Given the description of an element on the screen output the (x, y) to click on. 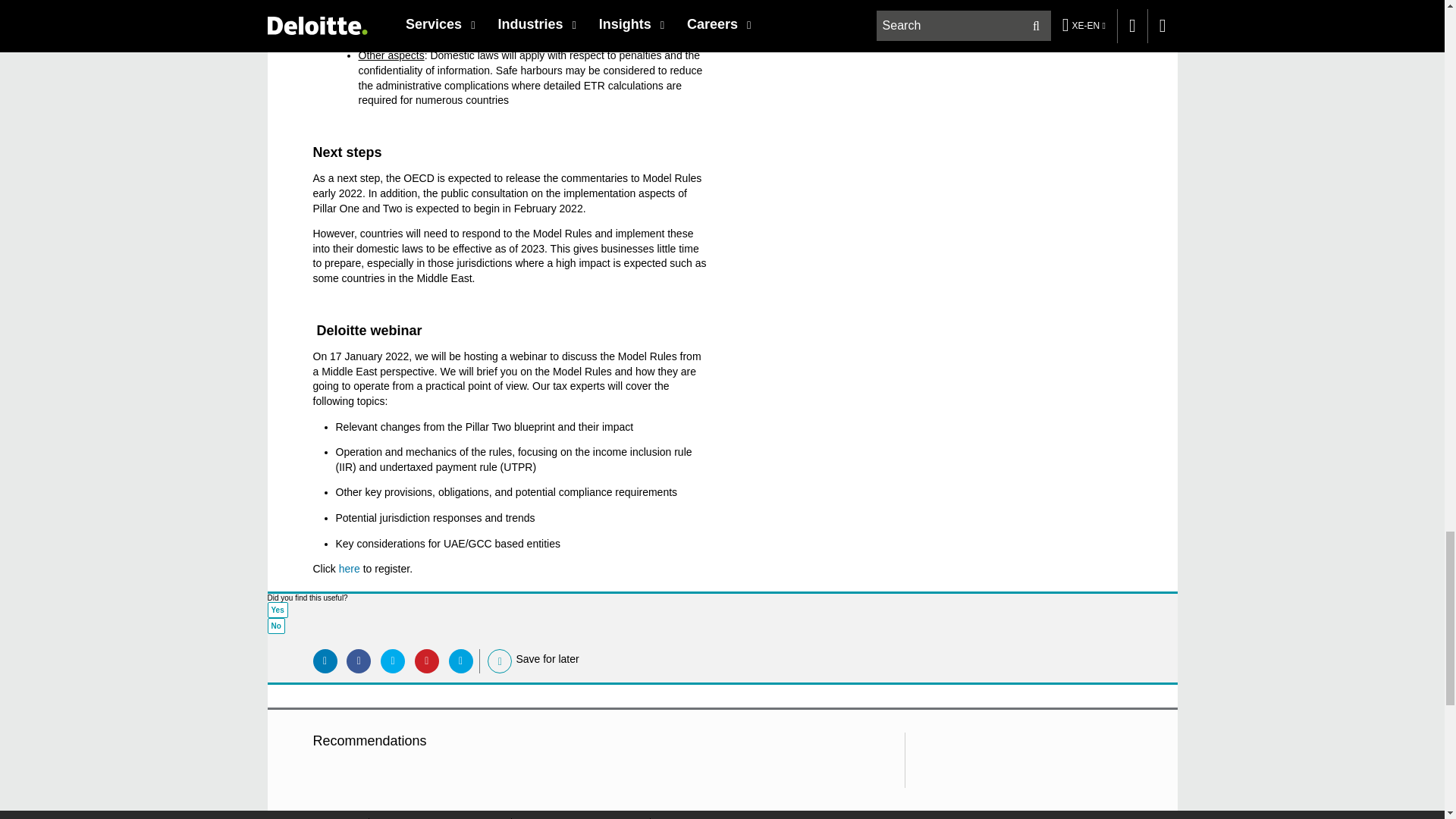
Share by email (460, 661)
Save for later (499, 661)
Share on LinkedIn (324, 661)
Share on Twitter (392, 661)
Share on Pinterest (426, 661)
Share on Facebook (358, 661)
